Given the description of an element on the screen output the (x, y) to click on. 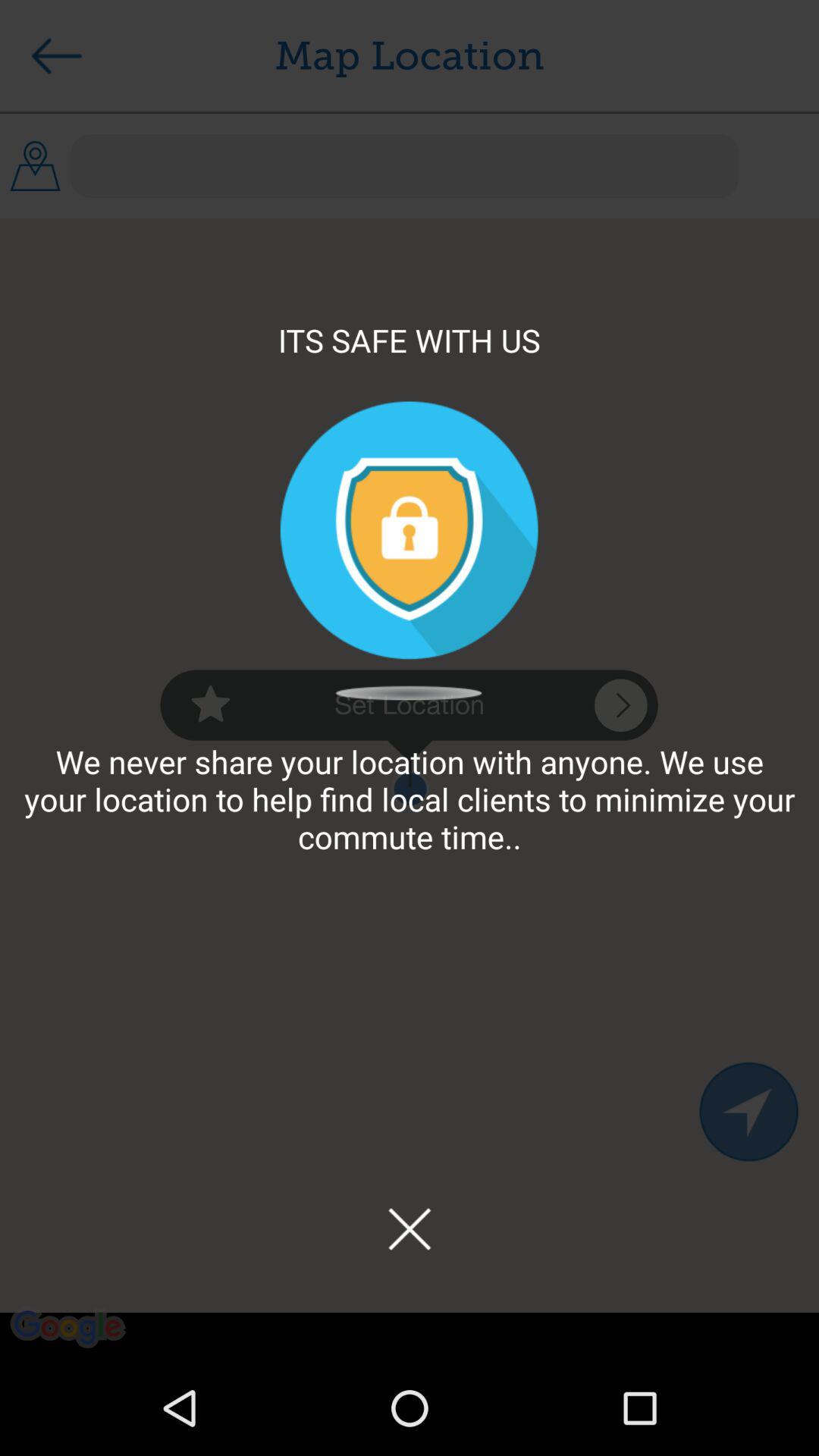
close the window (409, 1228)
